Given the description of an element on the screen output the (x, y) to click on. 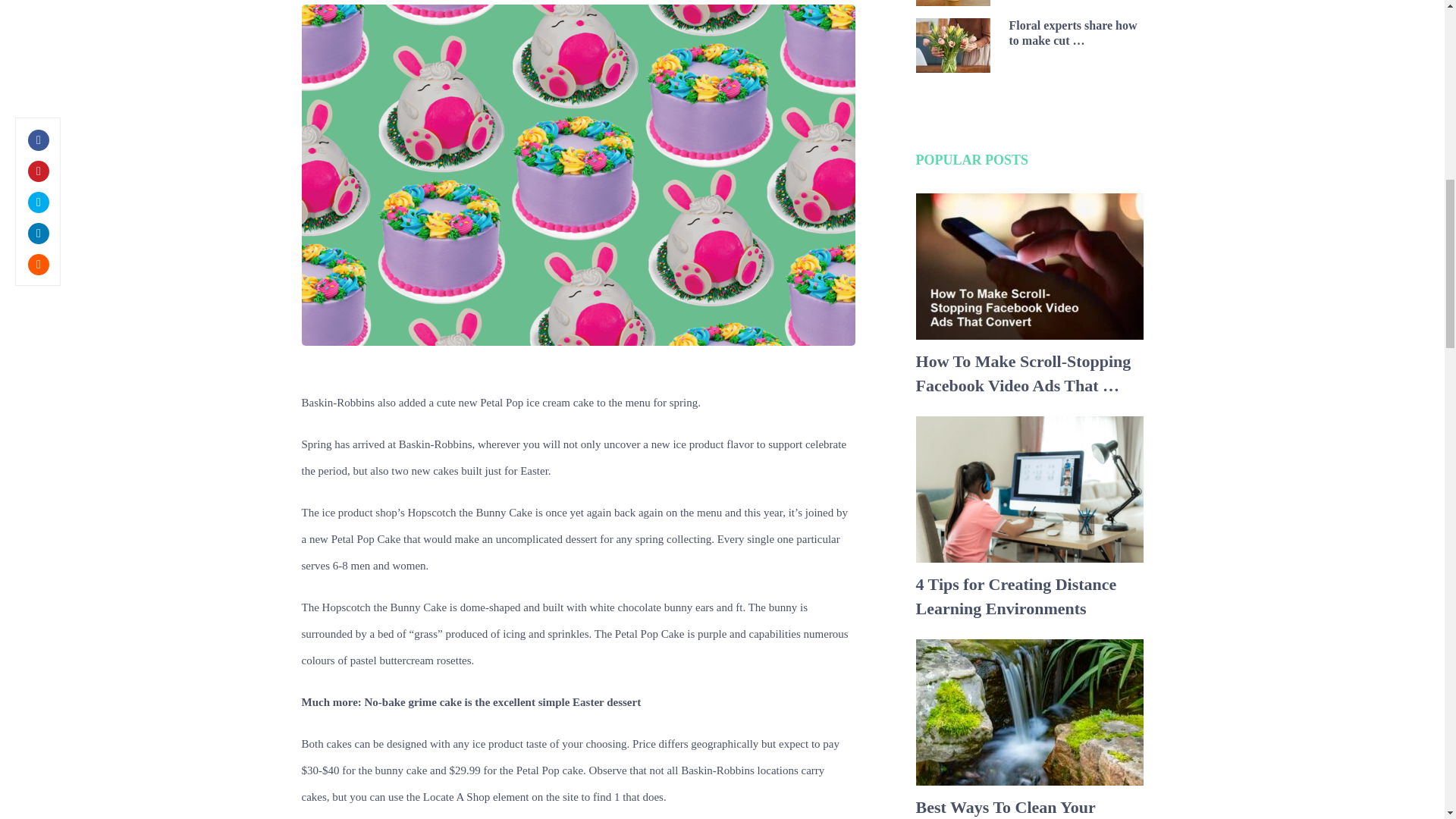
4 Tips for Creating Distance Learning Environments (1028, 596)
